Given the description of an element on the screen output the (x, y) to click on. 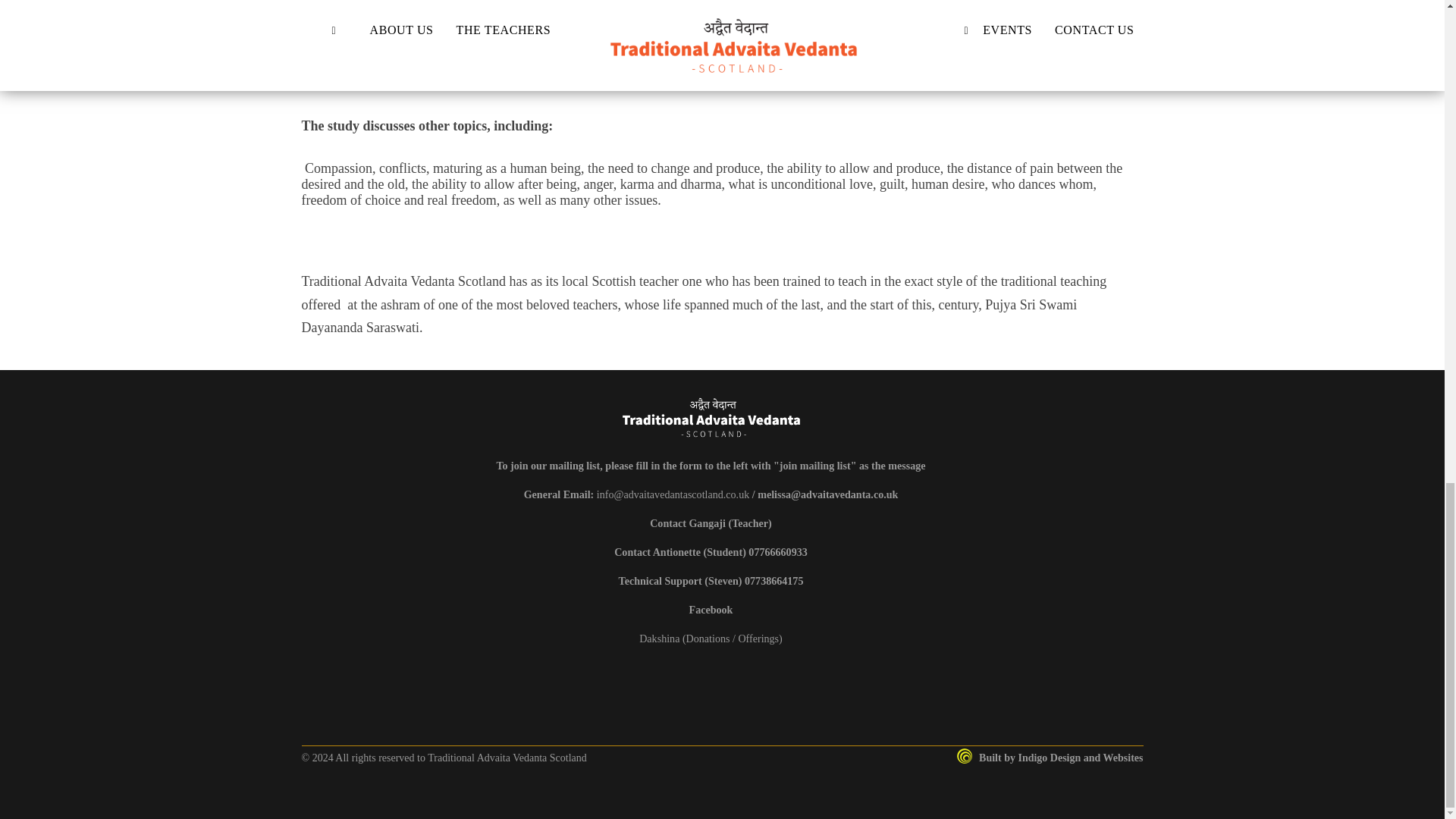
Facebook (710, 609)
  Built by Indigo Design and Websites (1050, 757)
